Given the description of an element on the screen output the (x, y) to click on. 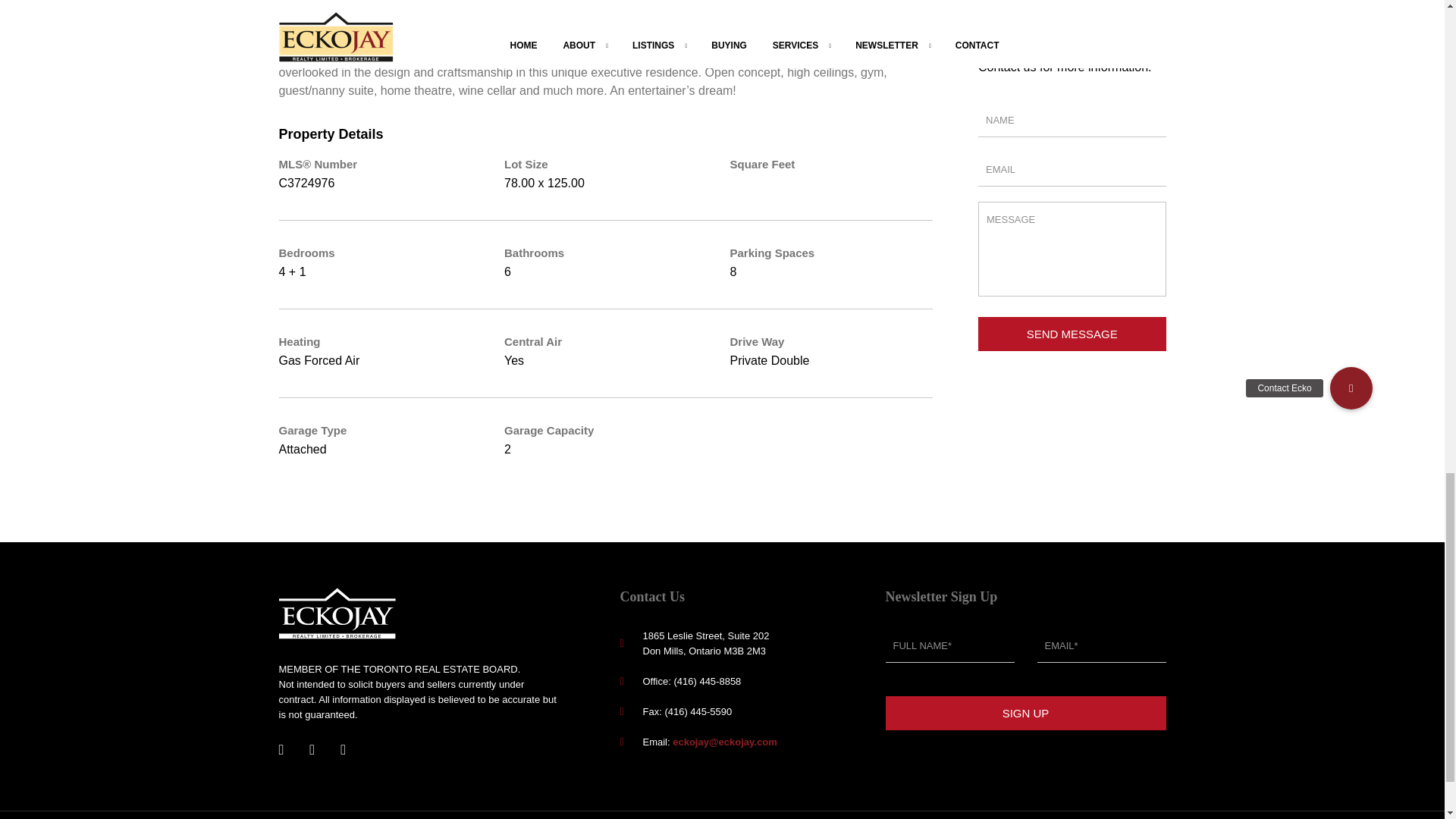
SIGN UP (1025, 713)
SEND MESSAGE (1072, 333)
